Given the description of an element on the screen output the (x, y) to click on. 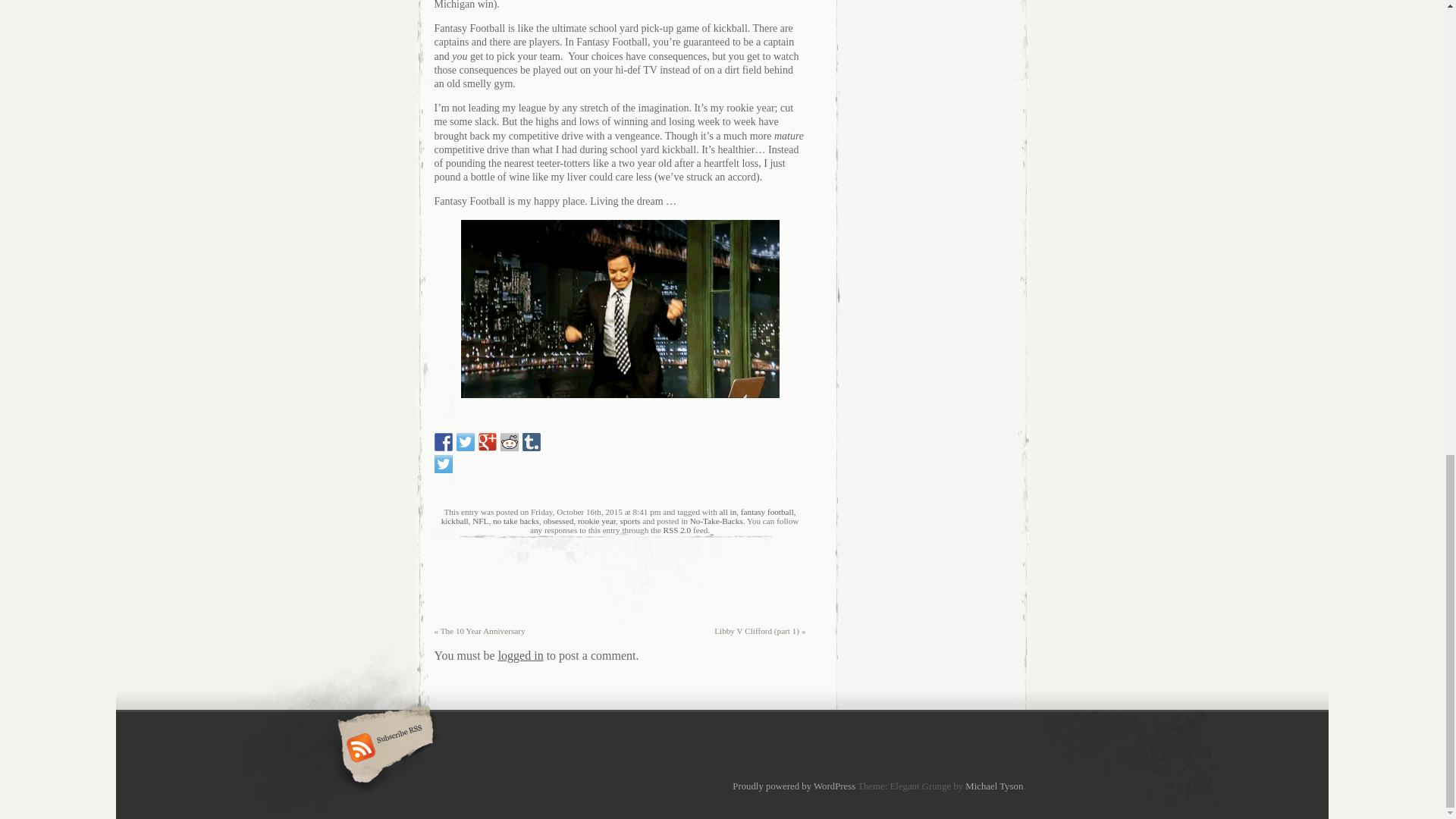
Share on Twitter (465, 442)
Share on tumblr (530, 442)
kickball (454, 520)
all in (727, 511)
rookie year (596, 520)
Share on Facebook (442, 442)
obsessed (558, 520)
fantasy football (767, 511)
logged in (520, 655)
Follow us on Twitter (442, 464)
